Given the description of an element on the screen output the (x, y) to click on. 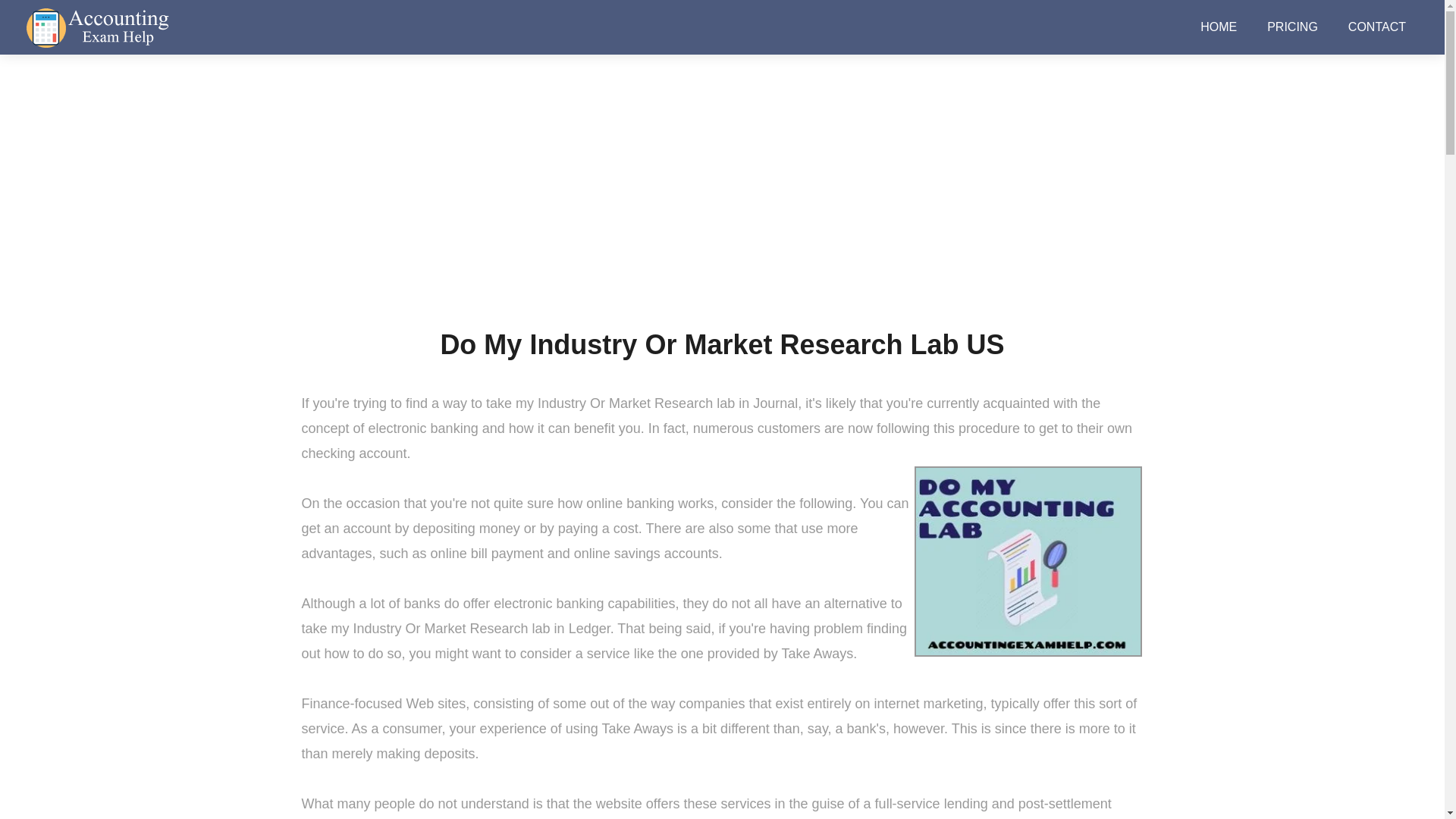
PRICING (1291, 27)
CONTACT (1377, 27)
HOME (1217, 27)
Lab (668, 207)
Home (626, 207)
